Given the description of an element on the screen output the (x, y) to click on. 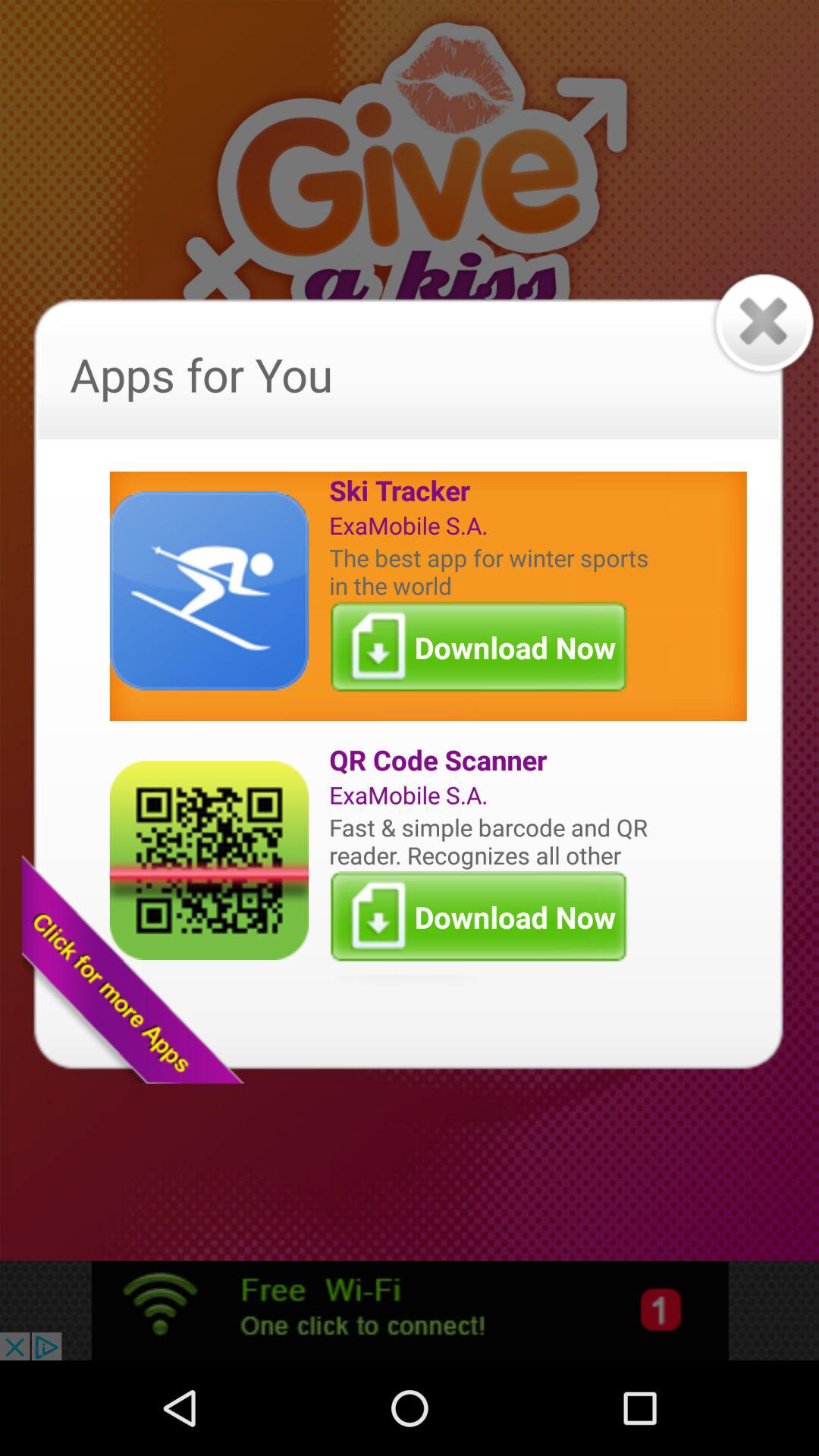
flip until the ski tracker app (492, 490)
